Given the description of an element on the screen output the (x, y) to click on. 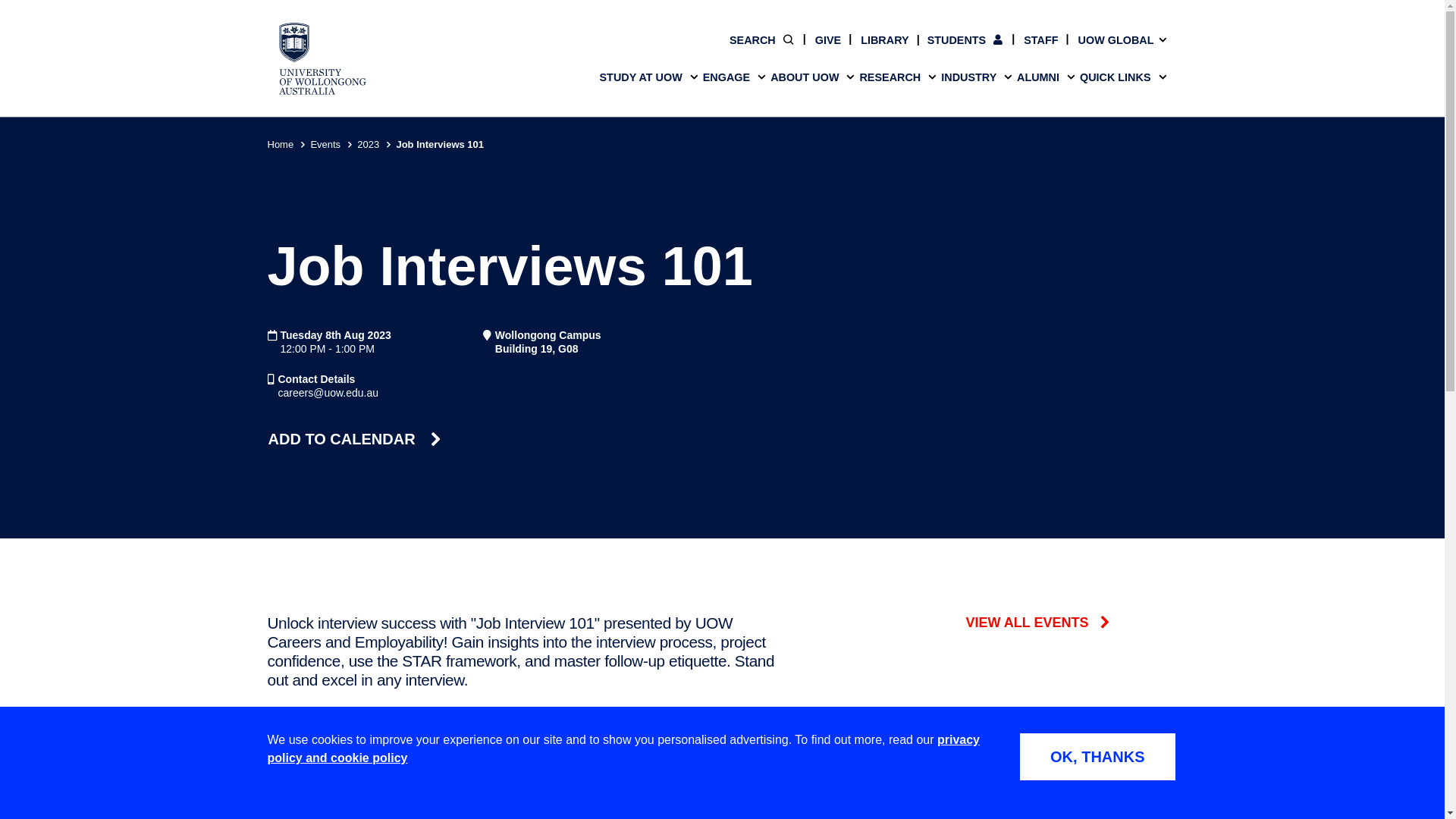
LIBRARY (874, 39)
ACCOMMODATION (608, 27)
ENGAGE (734, 76)
OK, THANKS (1096, 756)
INTERNATIONAL STUDENTS (1062, 7)
STAFF (1031, 39)
GIVE (817, 39)
VIEW ALL EVENTS (1069, 623)
UOW GLOBAL (1112, 39)
HIGH SCHOOL STUDENTS (380, 7)
STUDY AT UOW (721, 77)
NON-SCHOOL LEAVERS (608, 7)
STUDY AT UOW (647, 76)
MOVING TO WOLLONGONG (835, 27)
POSTGRADUATE STUDENTS (835, 7)
